Given the description of an element on the screen output the (x, y) to click on. 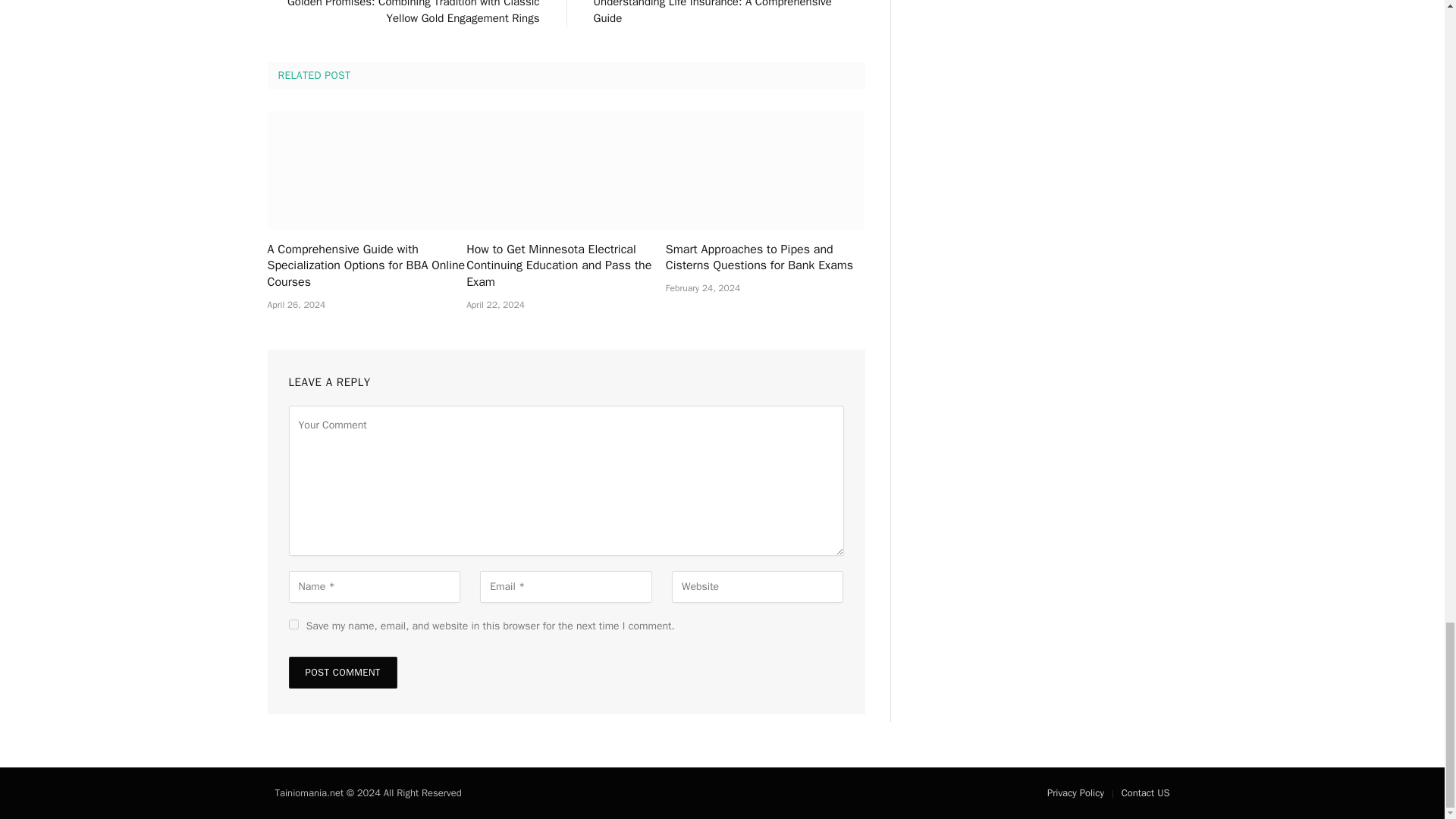
yes (293, 624)
Post Comment (342, 672)
